Given the description of an element on the screen output the (x, y) to click on. 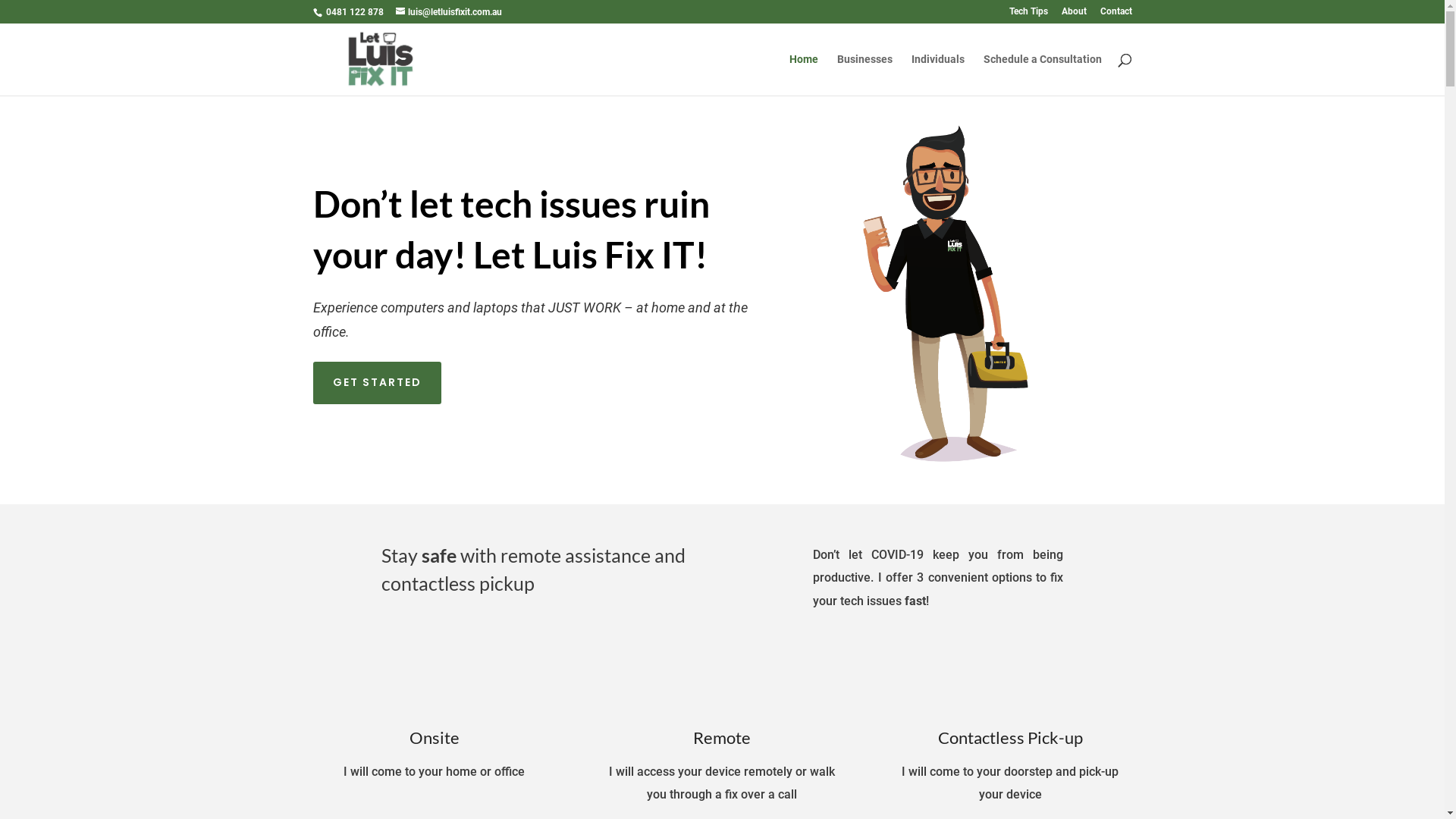
Home Element type: text (802, 74)
Individuals Element type: text (937, 74)
0481 122 878 Element type: text (352, 11)
About Element type: text (1073, 14)
Tech Tips Element type: text (1027, 14)
Avatar Element type: hover (943, 296)
GET STARTED Element type: text (376, 382)
luis@letluisfixit.com.au Element type: text (448, 11)
Businesses Element type: text (864, 74)
Schedule a Consultation Element type: text (1041, 74)
Contact Element type: text (1115, 14)
